Given the description of an element on the screen output the (x, y) to click on. 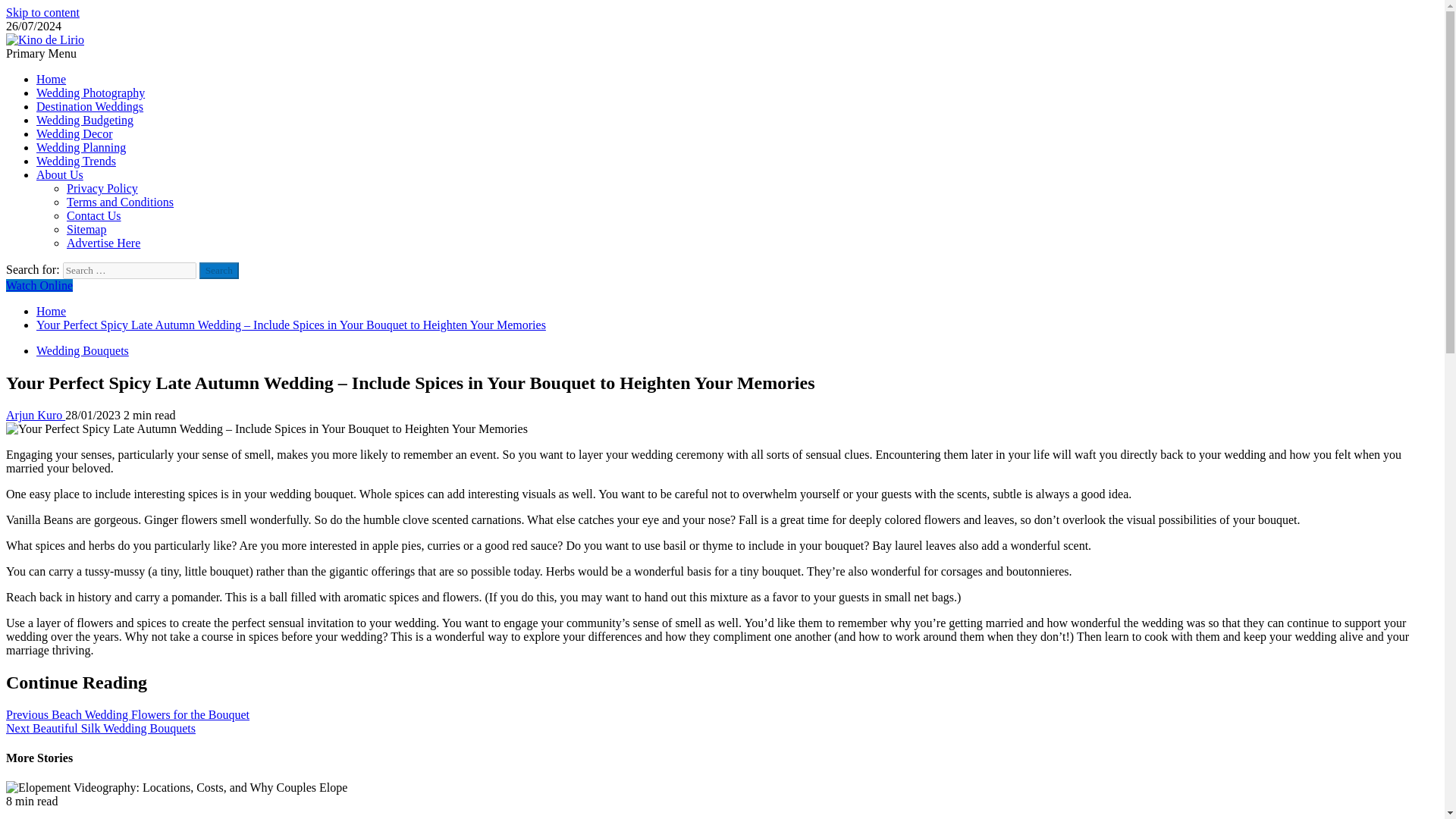
Home (50, 310)
Wedding Bouquets (82, 350)
Advertise Here (102, 242)
Search (218, 270)
Destination Weddings (89, 106)
Wedding Trends (76, 160)
Wedding Planning (80, 146)
Contact Us (93, 215)
Privacy Policy (102, 187)
Arjun Kuro (35, 414)
Skip to content (42, 11)
Previous Beach Wedding Flowers for the Bouquet (126, 714)
Search (218, 270)
Wedding Decor (74, 133)
Terms and Conditions (119, 201)
